Given the description of an element on the screen output the (x, y) to click on. 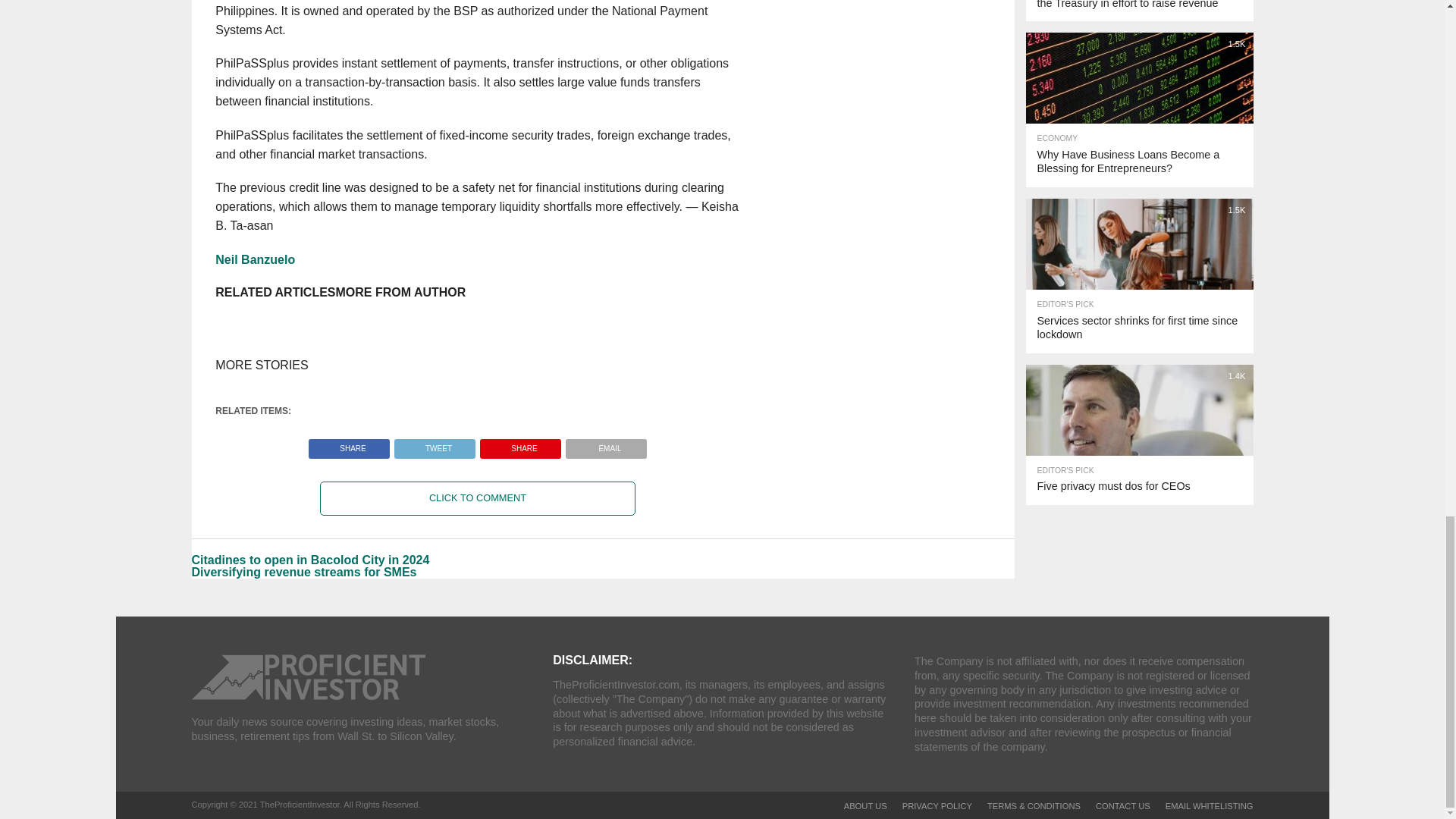
Share on Facebook (349, 444)
RELATED ARTICLES (274, 291)
Neil Banzuelo (255, 259)
Citadines to open in Bacolod City in 2024 (309, 559)
Diversifying revenue streams for SMEs (303, 571)
TWEET (434, 444)
SHARE (349, 444)
Tweet This Post (434, 444)
EMAIL (605, 444)
Pin This Post (520, 444)
MORE FROM AUTHOR (400, 291)
SHARE (520, 444)
